Given the description of an element on the screen output the (x, y) to click on. 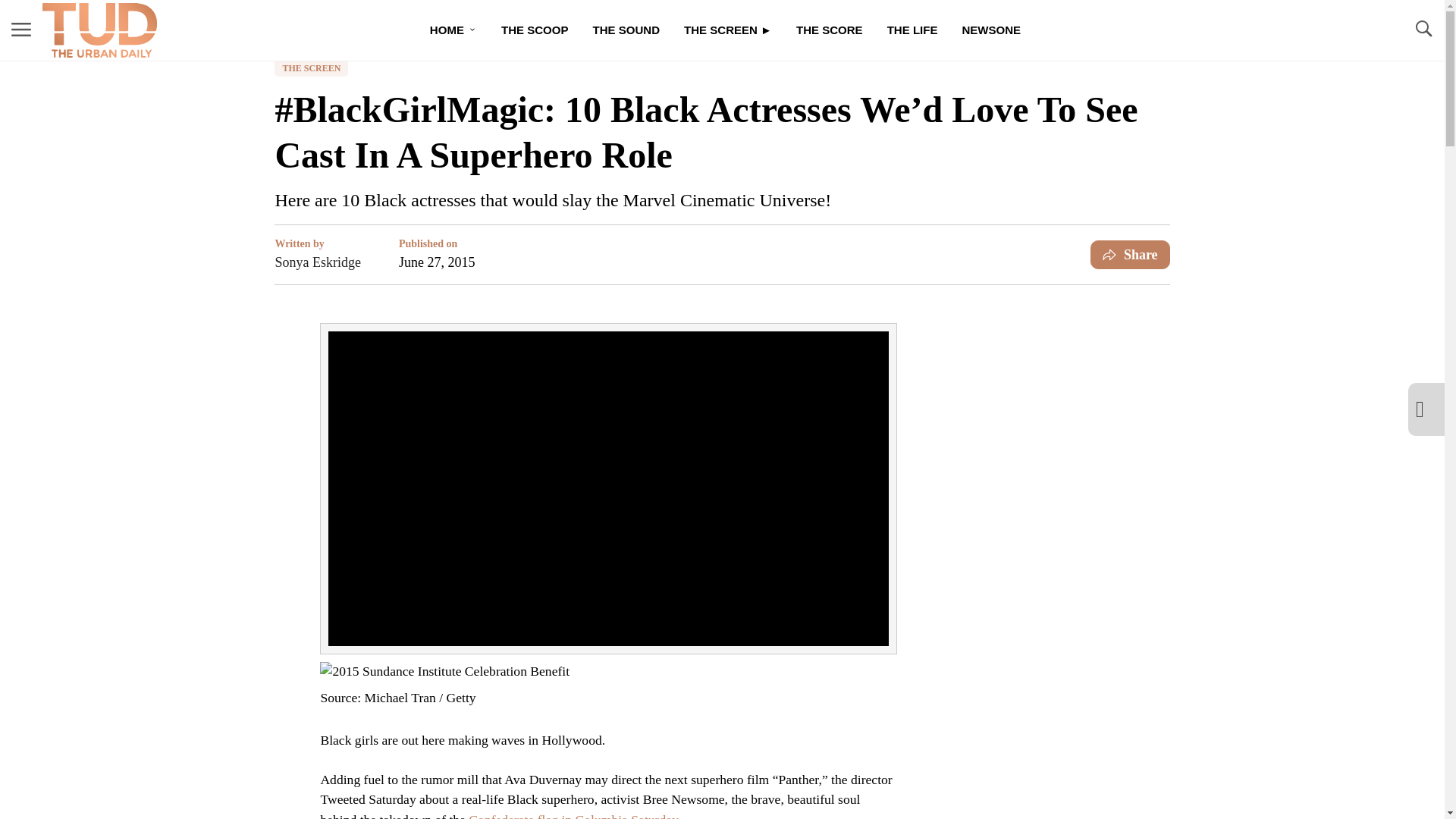
THE LIFE (912, 30)
HOME (453, 30)
THE SCREEN (311, 67)
Sonya Eskridge (317, 261)
MENU (20, 30)
Confederate flag in Columbia Saturday. (574, 815)
Share (1130, 254)
NEWSONE (990, 30)
THE SCORE (829, 30)
THE SCOOP (534, 30)
